Given the description of an element on the screen output the (x, y) to click on. 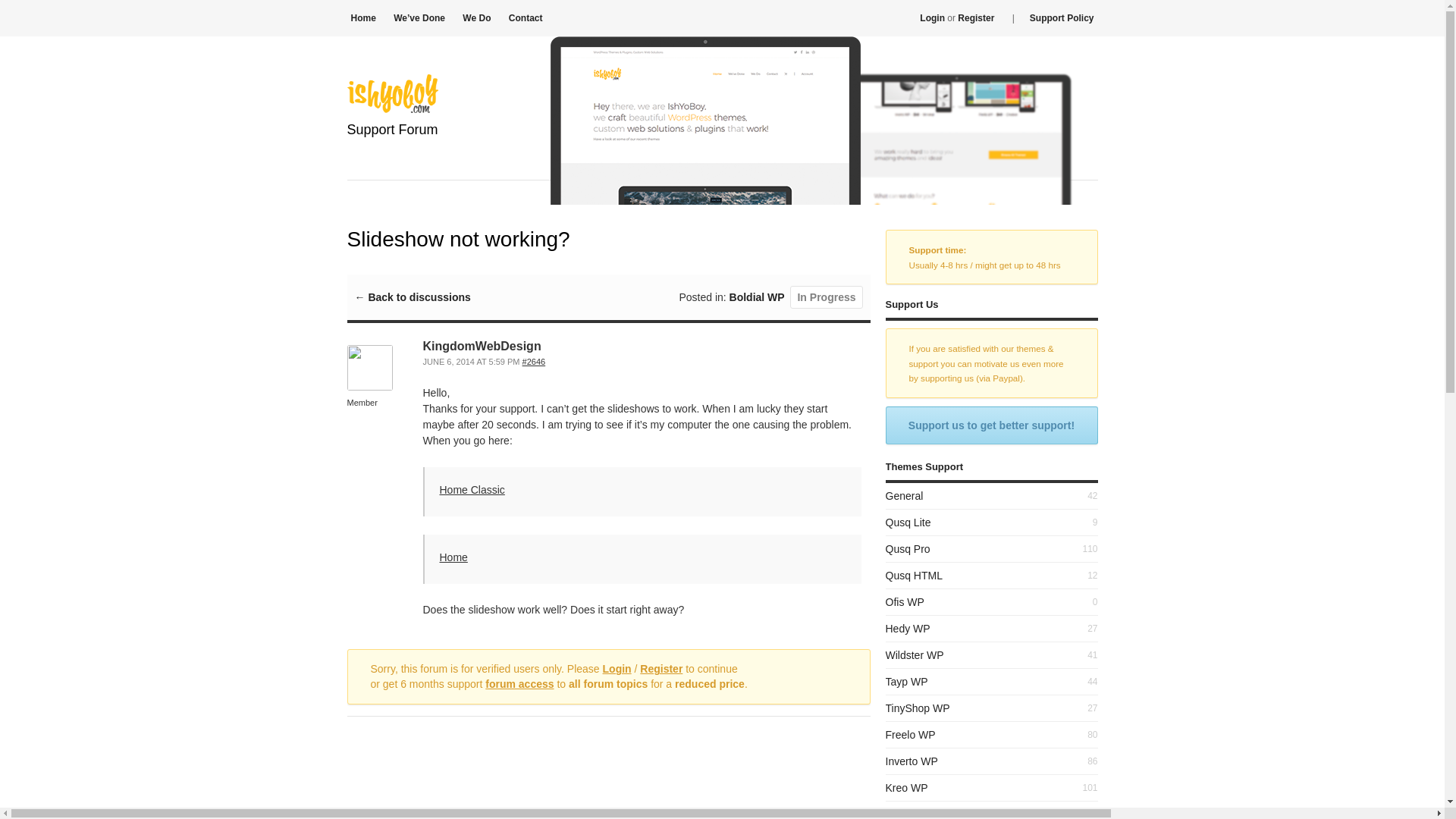
View KingdomWebDesign's profile (370, 386)
Wildster WP (914, 654)
Support Forum (392, 149)
Hedy WP (907, 628)
Slideshow not working? (534, 361)
Register (661, 668)
Tayp WP (906, 681)
Wildster WP (914, 654)
We Do (476, 18)
Home (453, 557)
